Given the description of an element on the screen output the (x, y) to click on. 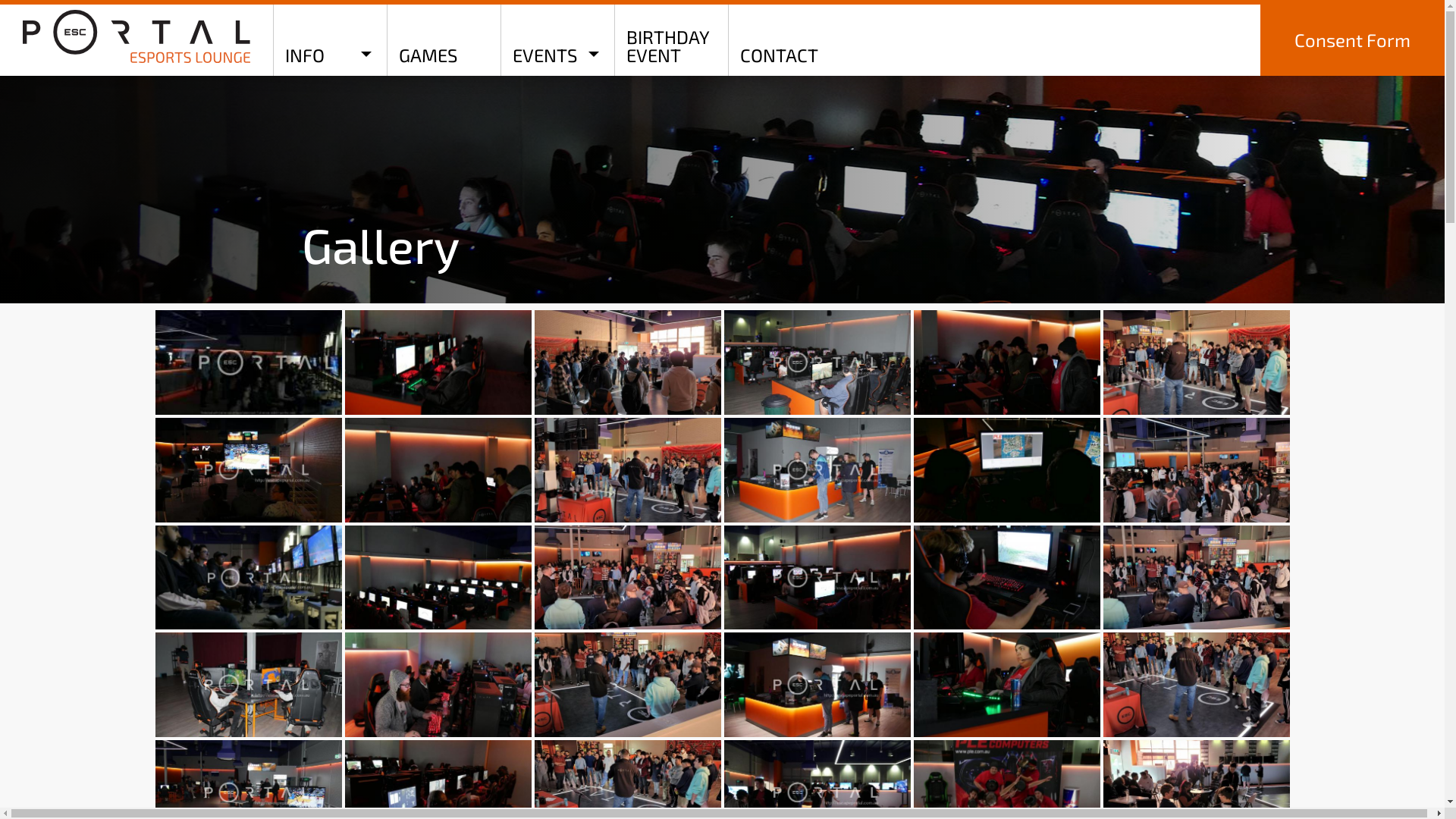
CONTACT Element type: text (784, 39)
BIRTHDAY EVENT Element type: text (671, 39)
EVENTS Element type: text (557, 39)
GAMES Element type: text (443, 39)
INFO Element type: text (329, 39)
Consent Form Element type: text (1352, 39)
